Given the description of an element on the screen output the (x, y) to click on. 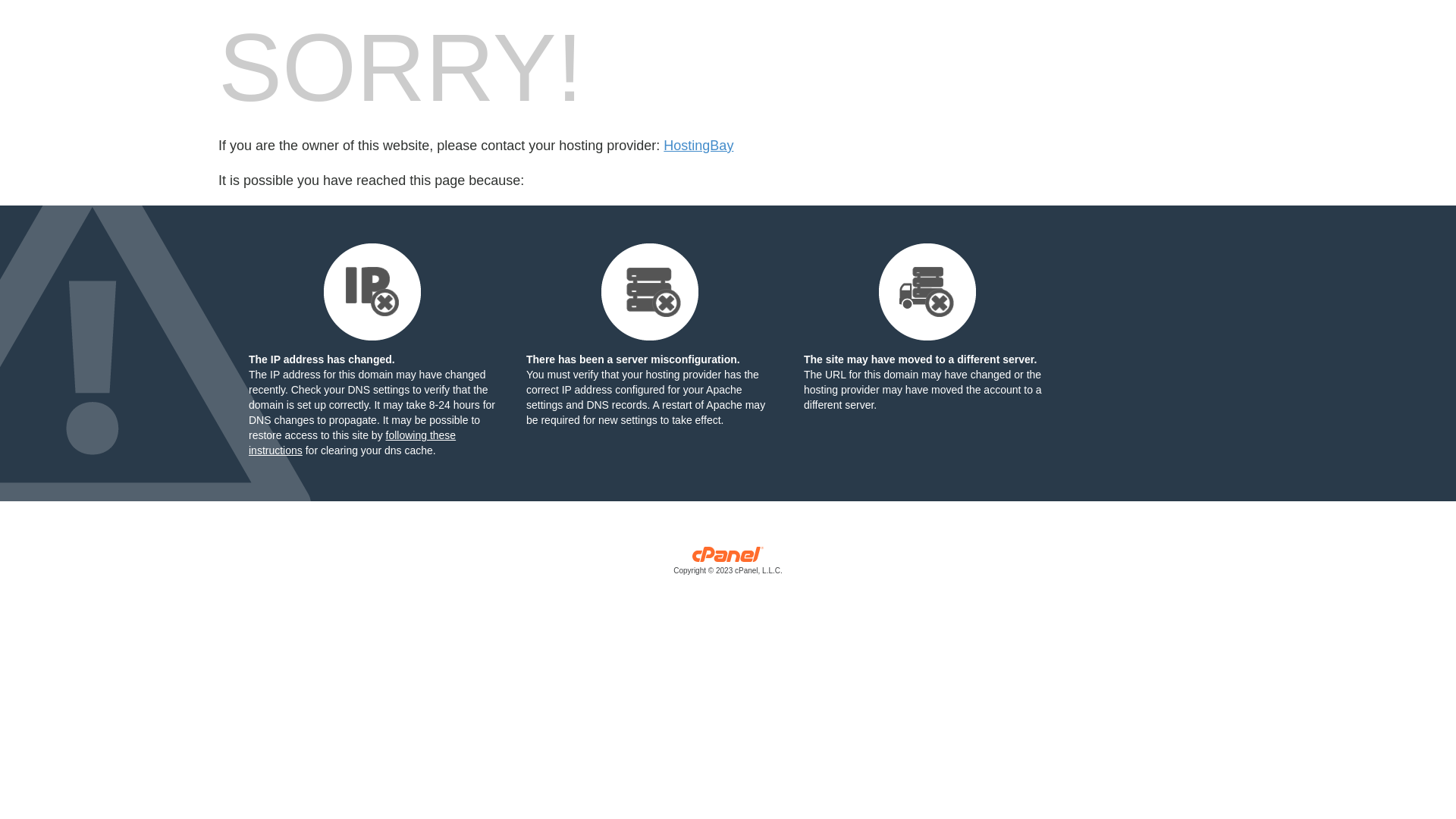
HostingBay Element type: text (698, 145)
following these instructions Element type: text (351, 442)
